Given the description of an element on the screen output the (x, y) to click on. 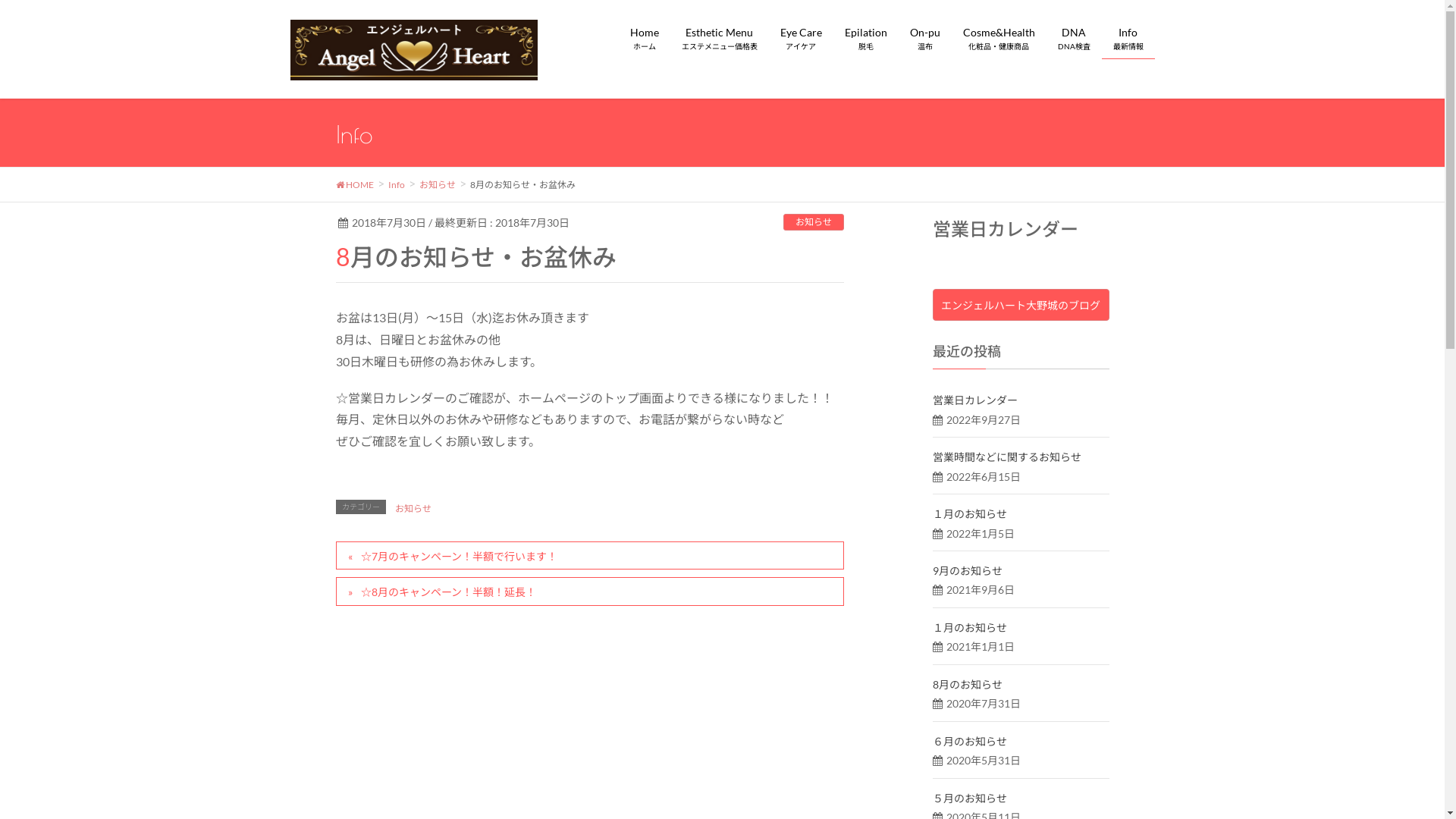
HOME Element type: text (354, 182)
Info Element type: text (396, 182)
